Given the description of an element on the screen output the (x, y) to click on. 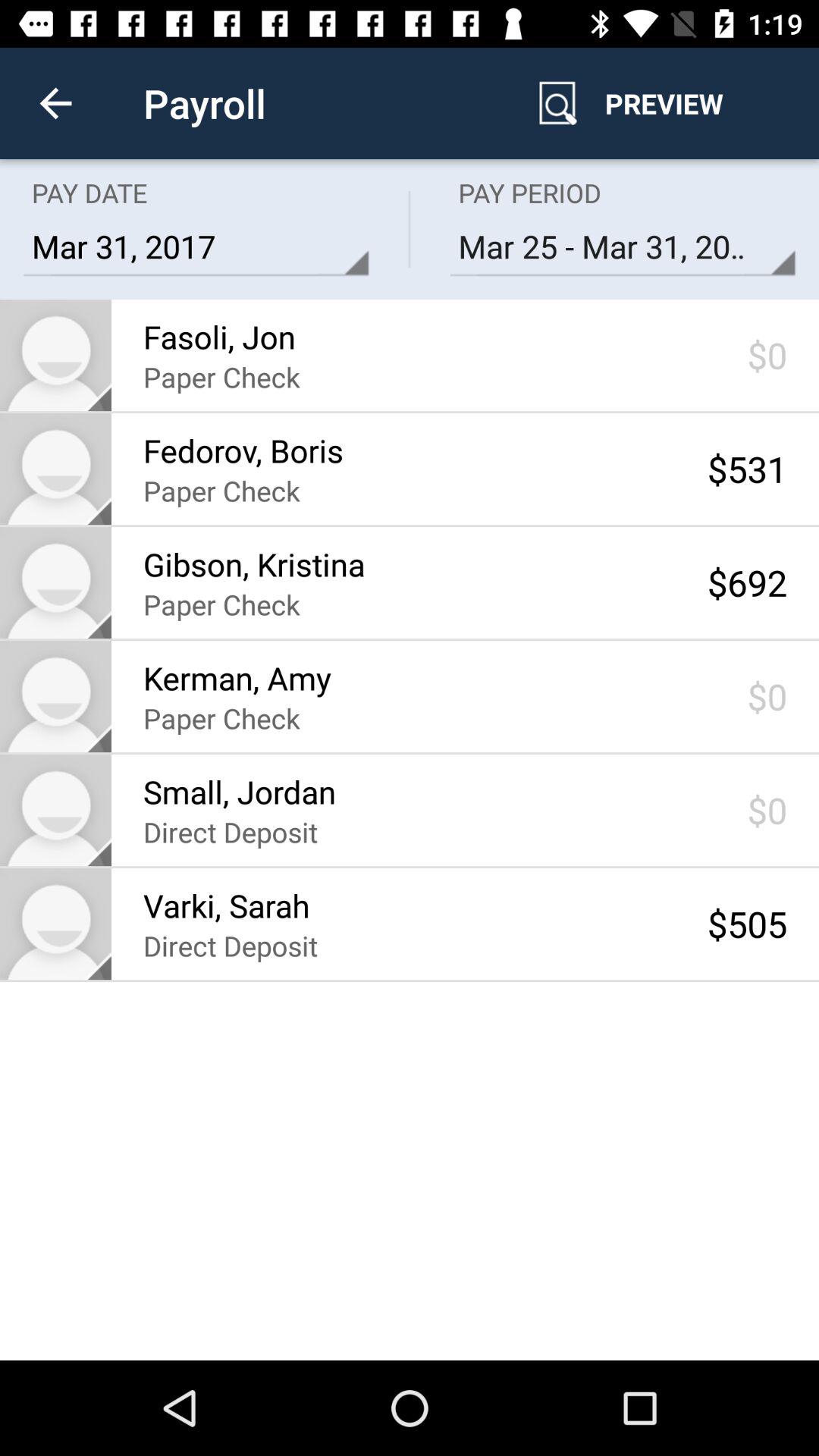
open fedorov boris contact (55, 468)
